Given the description of an element on the screen output the (x, y) to click on. 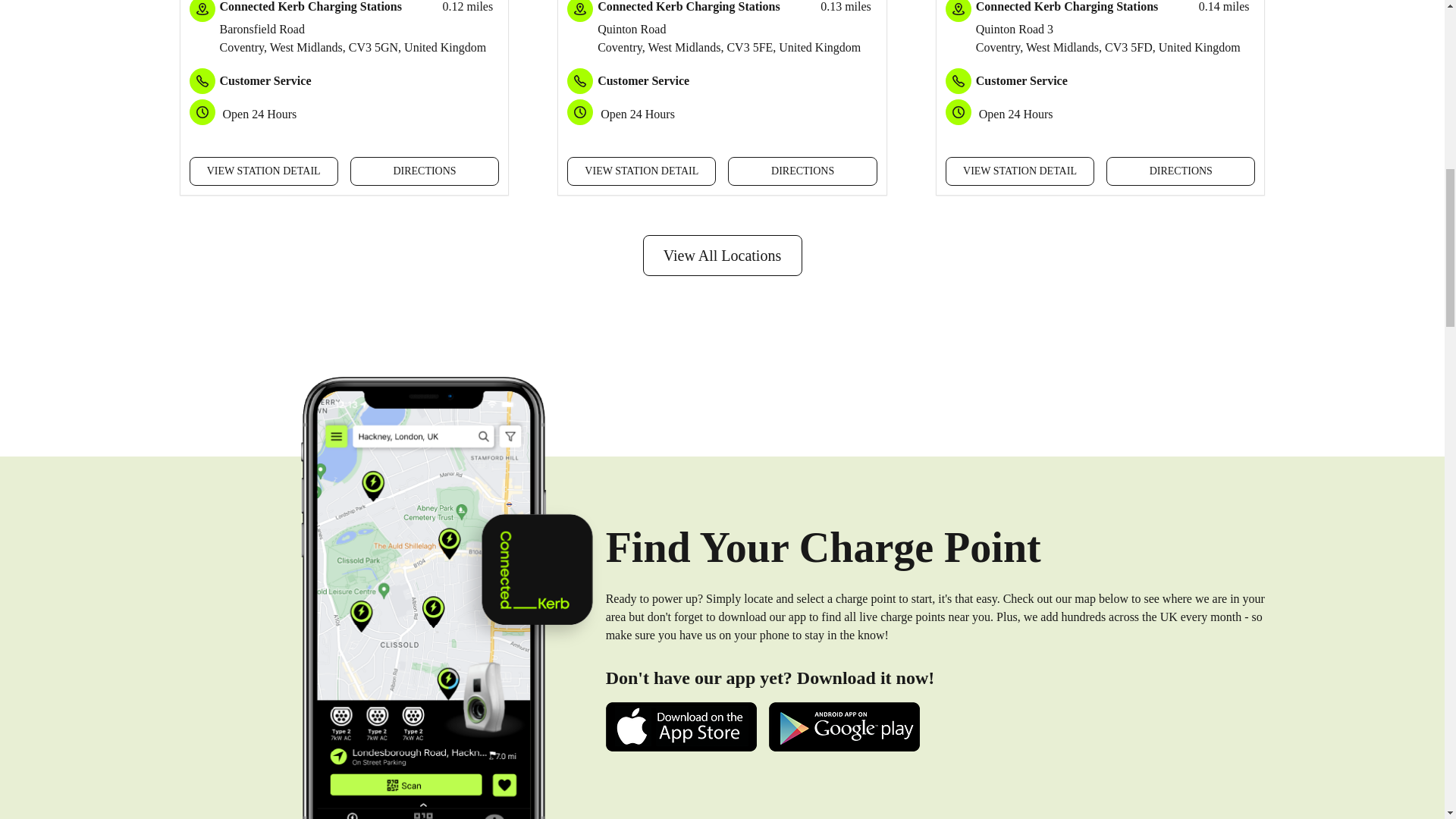
Customer Service (642, 80)
Connected Kerb Charging Stations (687, 6)
Customer Service (1021, 80)
Connected Kerb Charging Stations (310, 6)
VIEW STATION DETAIL (641, 171)
VIEW STATION DETAIL (263, 171)
VIEW STATION DETAIL (1019, 171)
Customer Service (265, 80)
DIRECTIONS (1180, 171)
Connected Kerb Charging Stations (1066, 6)
DIRECTIONS (424, 171)
DIRECTIONS (802, 171)
View All Locations (722, 255)
